Given the description of an element on the screen output the (x, y) to click on. 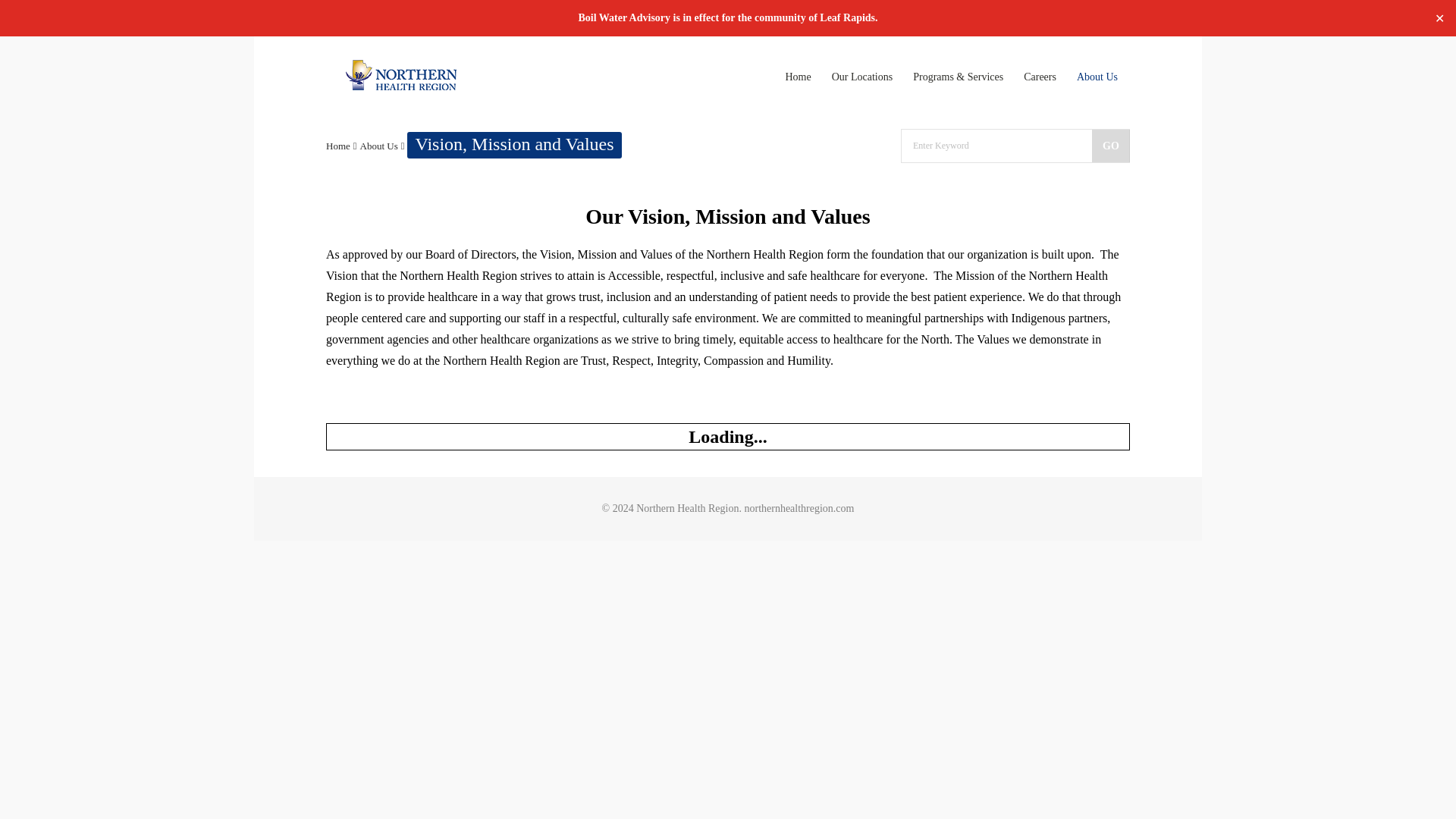
Our Locations (862, 77)
About Us (1096, 77)
Go (1110, 145)
Northern Health Region (401, 85)
Careers (1039, 77)
Home (797, 77)
Enter Keyword (995, 145)
About Us (378, 145)
Northern Health Region (401, 74)
Go (1110, 145)
